Given the description of an element on the screen output the (x, y) to click on. 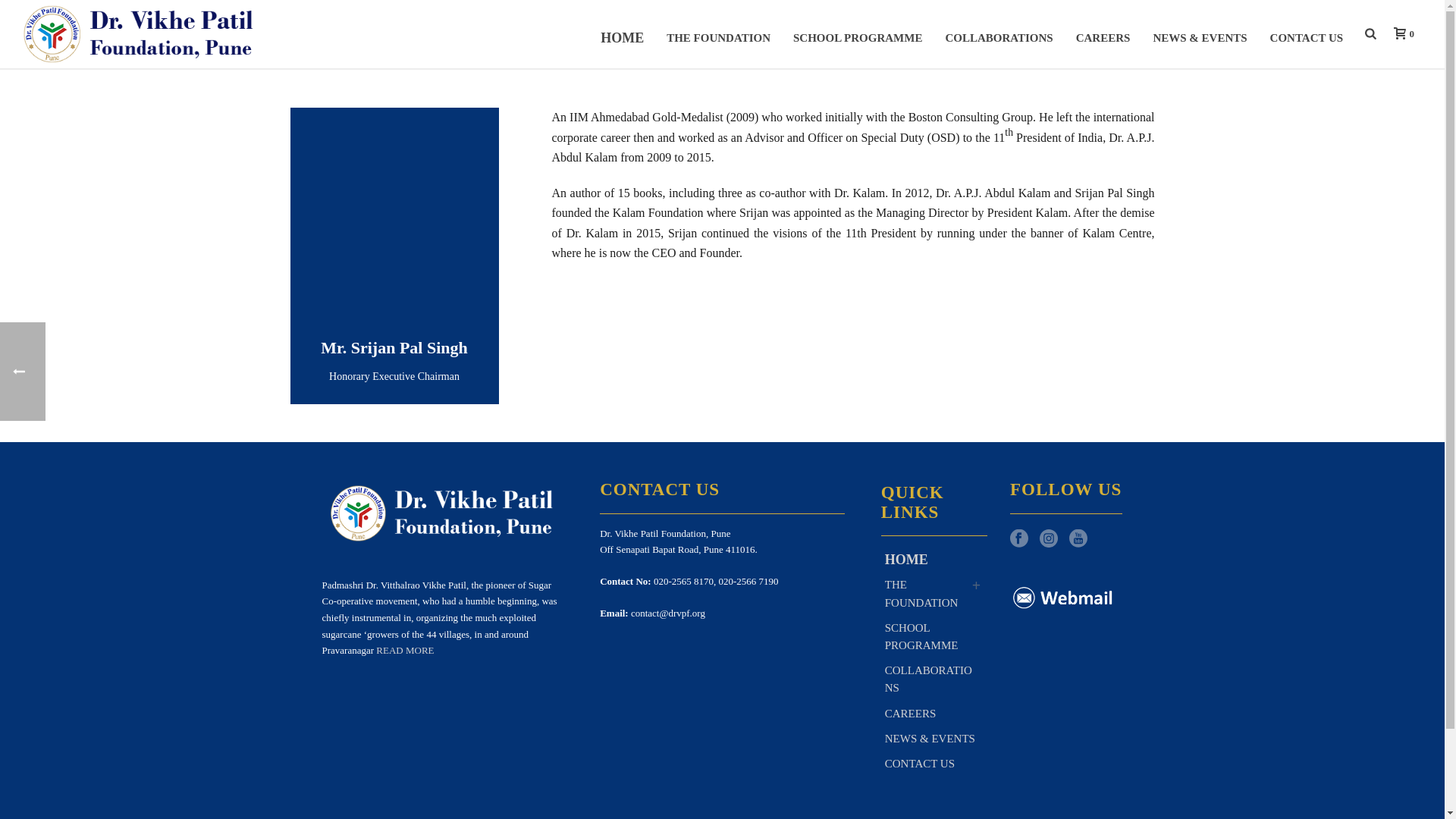
Making Life Meaningful (140, 33)
CONTACT US (1307, 33)
CONTACT US (1307, 33)
Follow Us on youtube (1077, 538)
SCHOOL PROGRAMME (857, 33)
HOME (622, 33)
Mr. Srijan Pal Singh (393, 211)
SCHOOL PROGRAMME (857, 33)
COLLABORATIONS (998, 33)
CAREERS (1102, 33)
